Given the description of an element on the screen output the (x, y) to click on. 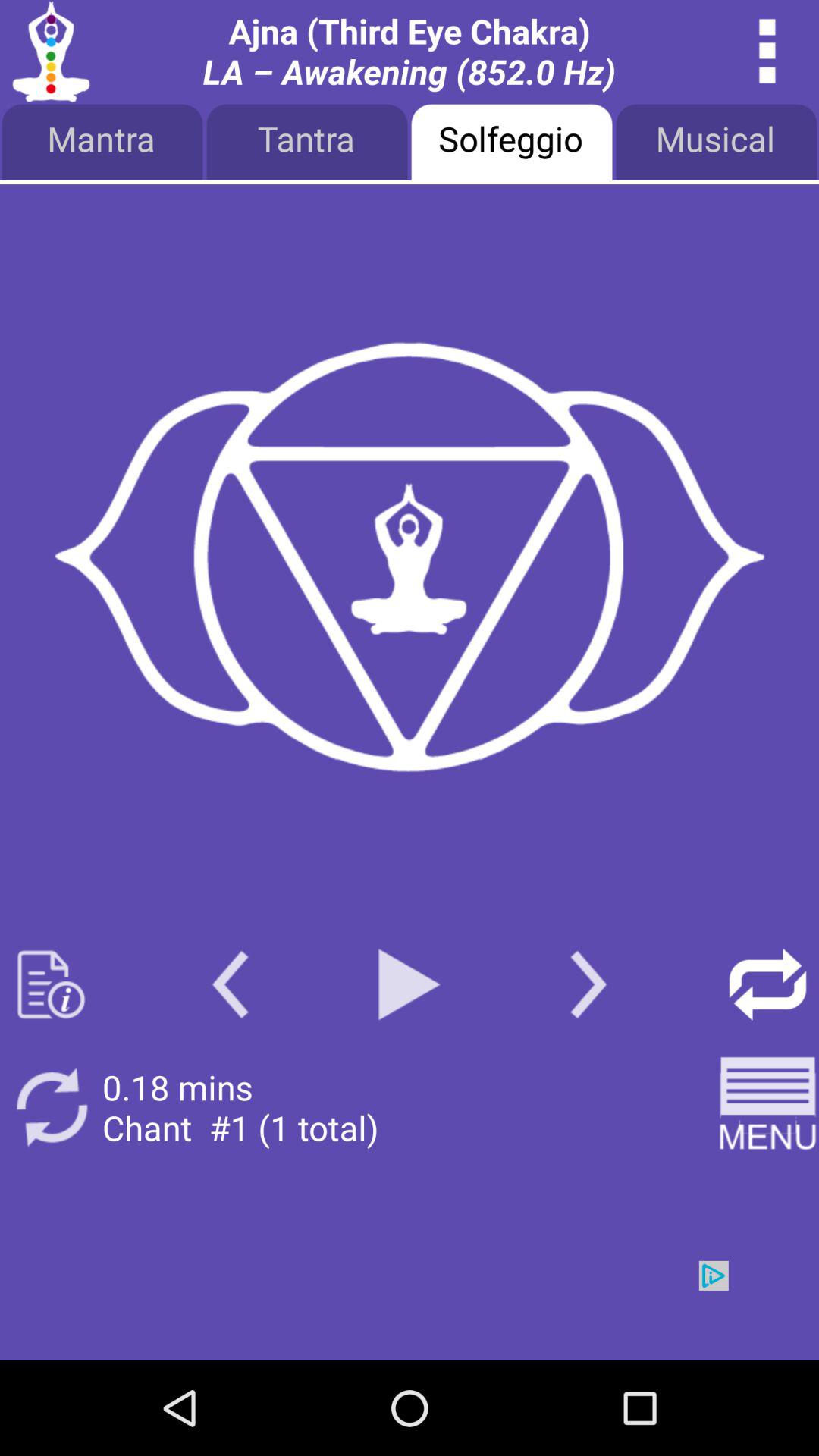
go to back page (230, 984)
